Given the description of an element on the screen output the (x, y) to click on. 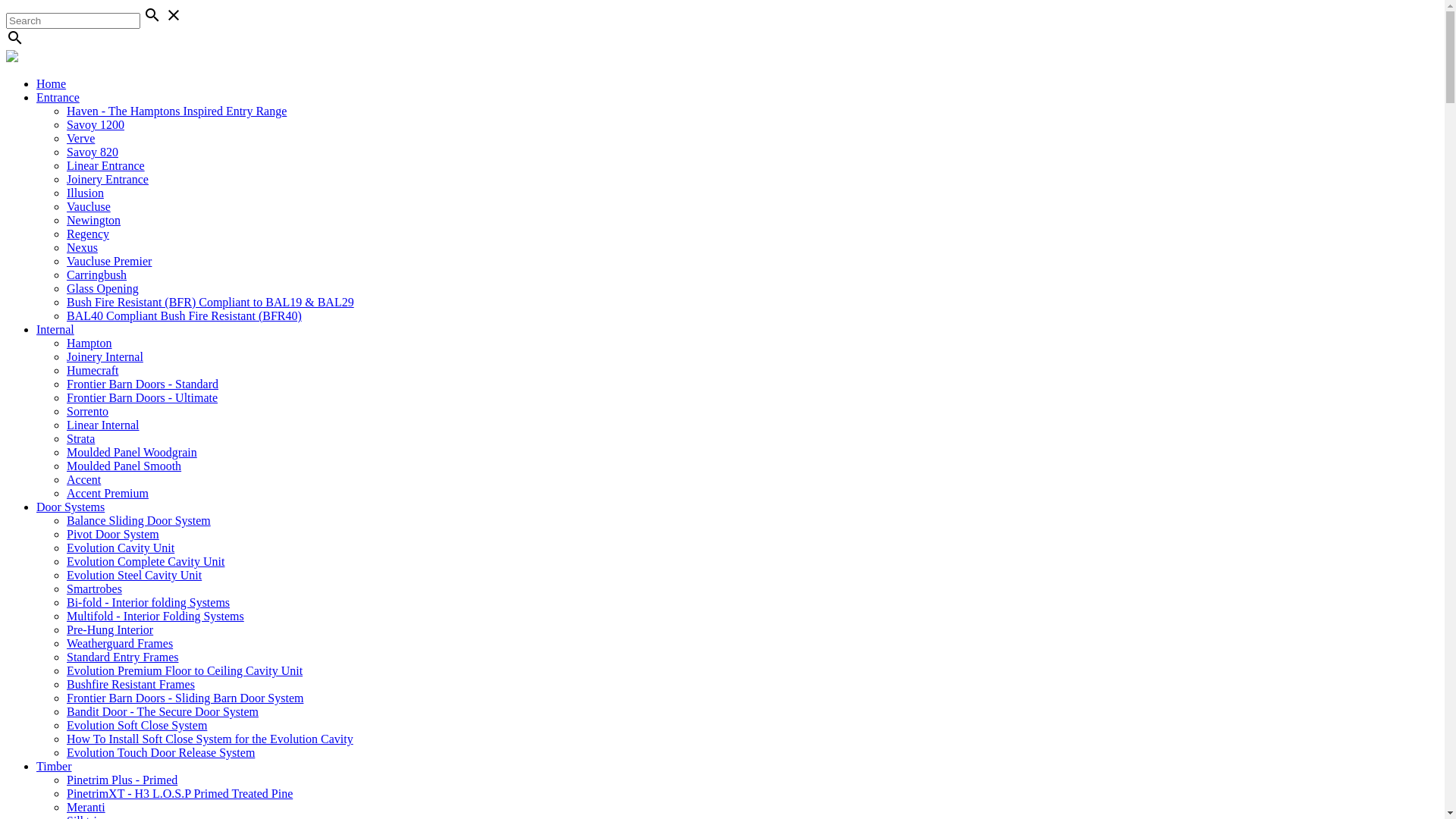
Humecraft Element type: text (92, 370)
Evolution Cavity Unit Element type: text (120, 547)
Balance Sliding Door System Element type: text (138, 520)
Linear Internal Element type: text (102, 424)
PinetrimXT - H3 L.O.S.P Primed Treated Pine Element type: text (179, 793)
Pivot Door System Element type: text (112, 533)
Multifold - Interior Folding Systems Element type: text (155, 615)
Accent Premium Element type: text (107, 492)
Frontier Barn Doors - Standard Element type: text (142, 383)
Standard Entry Frames Element type: text (122, 656)
Illusion Element type: text (84, 192)
Haven - The Hamptons Inspired Entry Range Element type: text (176, 110)
Frontier Barn Doors - Sliding Barn Door System Element type: text (184, 697)
Pre-Hung Interior Element type: text (109, 629)
Hampton Element type: text (89, 342)
Door Systems Element type: text (70, 506)
Joinery Internal Element type: text (104, 356)
Bandit Door - The Secure Door System Element type: text (162, 711)
Evolution Complete Cavity Unit Element type: text (145, 561)
Evolution Touch Door Release System Element type: text (160, 752)
Savoy 820 Element type: text (92, 151)
Home Element type: text (50, 83)
Newington Element type: text (93, 219)
Evolution Premium Floor to Ceiling Cavity Unit Element type: text (184, 670)
Evolution Soft Close System Element type: text (136, 724)
Internal Element type: text (55, 329)
Timber Element type: text (54, 765)
Meranti Element type: text (85, 806)
Linear Entrance Element type: text (105, 165)
Verve Element type: text (80, 137)
Smartrobes Element type: text (94, 588)
Glass Opening Element type: text (102, 288)
Accent Element type: text (83, 479)
Weatherguard Frames Element type: text (119, 643)
Entrance Element type: text (57, 97)
Pinetrim Plus - Primed Element type: text (121, 779)
Vaucluse Premier Element type: text (108, 260)
Joinery Entrance Element type: text (107, 178)
Regency Element type: text (87, 233)
Vaucluse Element type: text (88, 206)
BAL40 Compliant Bush Fire Resistant (BFR40) Element type: text (183, 315)
Sorrento Element type: text (87, 410)
How To Install Soft Close System for the Evolution Cavity Element type: text (209, 738)
Bushfire Resistant Frames Element type: text (130, 683)
Strata Element type: text (80, 438)
Moulded Panel Smooth Element type: text (123, 465)
Savoy 1200 Element type: text (95, 124)
Nexus Element type: text (81, 247)
Bush Fire Resistant (BFR) Compliant to BAL19 & BAL29 Element type: text (210, 301)
Moulded Panel Woodgrain Element type: text (131, 451)
Carringbush Element type: text (96, 274)
Bi-fold - Interior folding Systems Element type: text (147, 602)
Evolution Steel Cavity Unit Element type: text (133, 574)
Frontier Barn Doors - Ultimate Element type: text (141, 397)
